Given the description of an element on the screen output the (x, y) to click on. 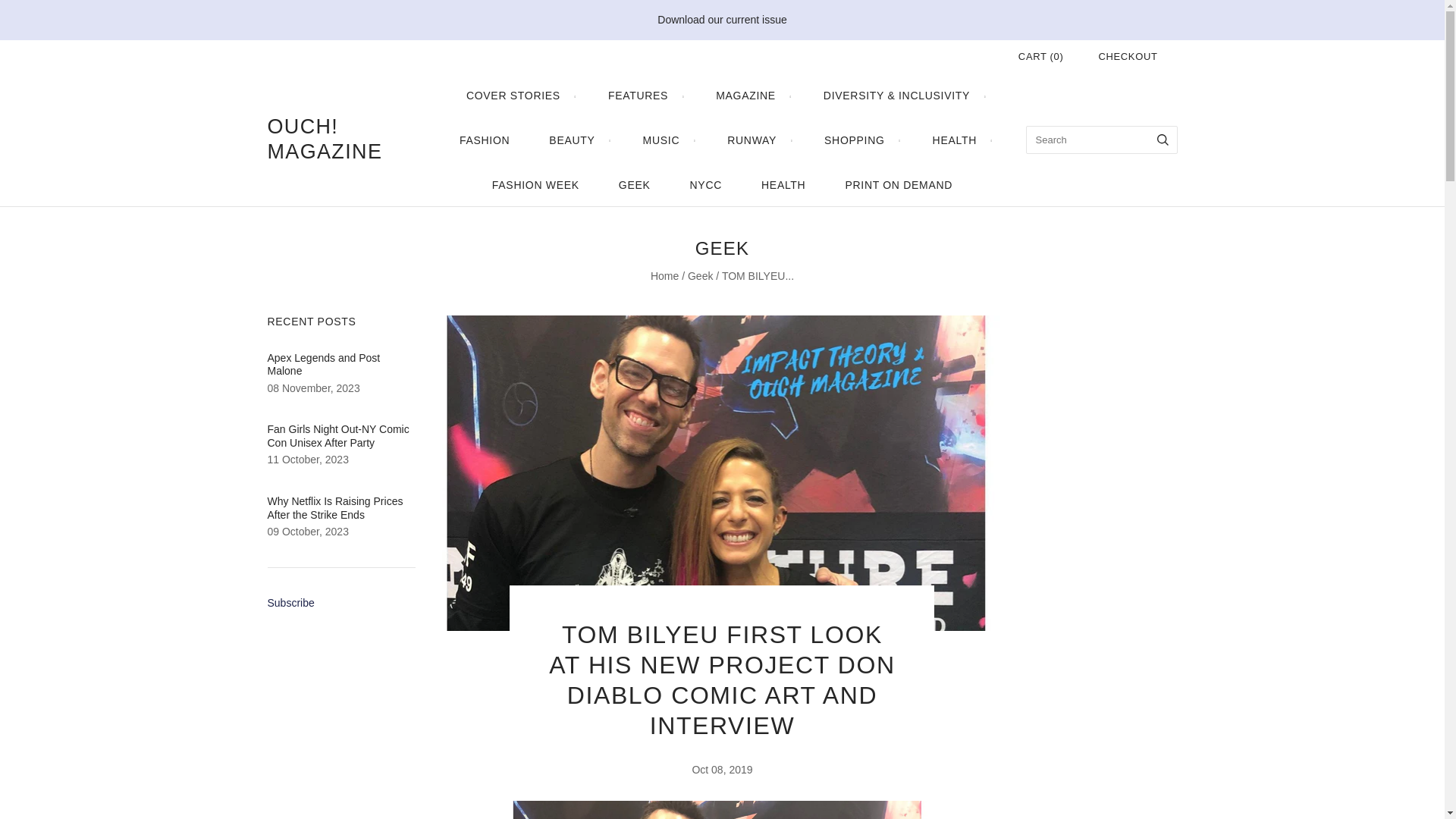
OUCH! MAGAZINE (342, 139)
CHECKOUT (1127, 56)
FASHION (484, 139)
